Given the description of an element on the screen output the (x, y) to click on. 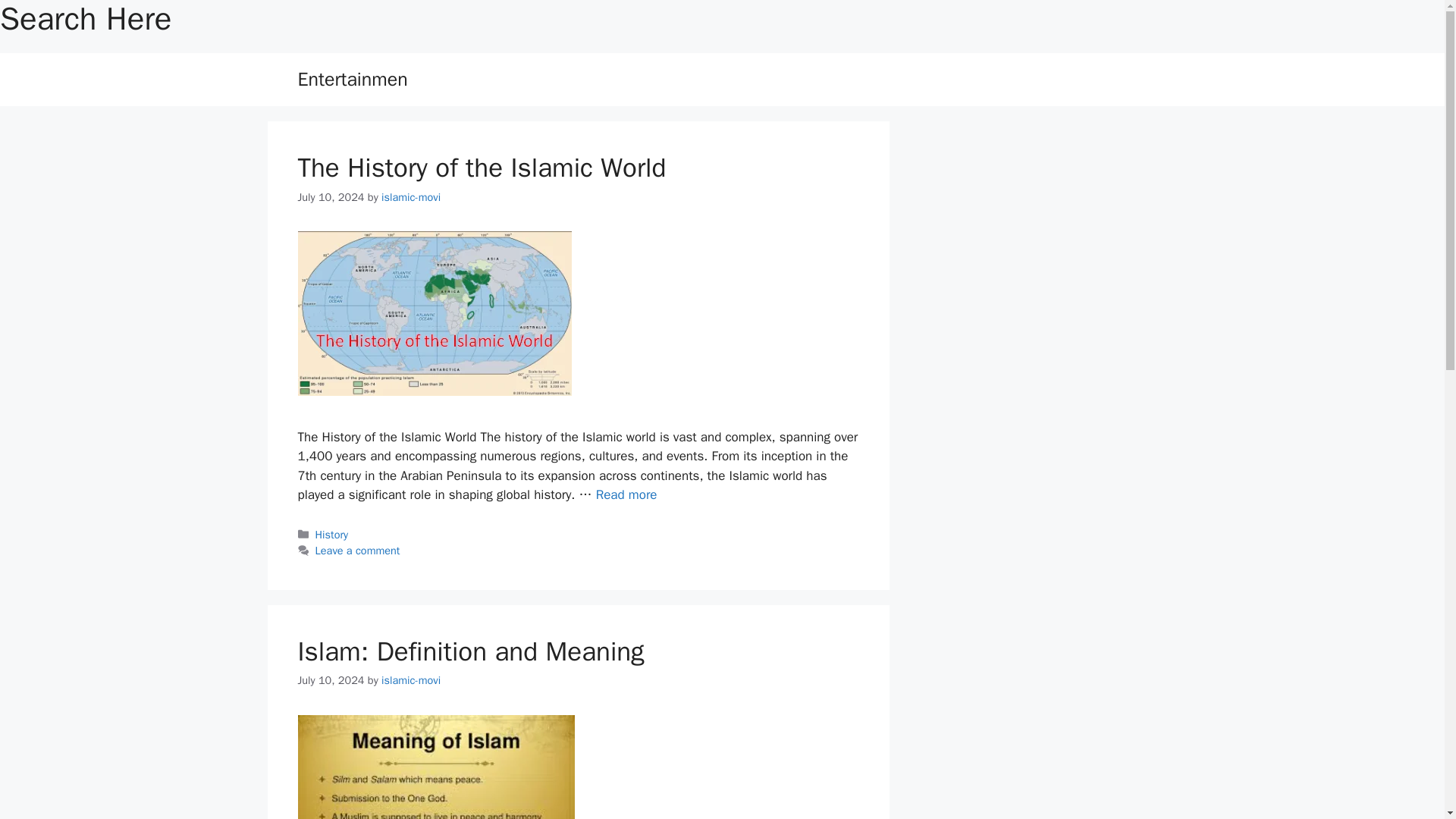
The History of the Islamic World (481, 167)
Read more (626, 494)
islamic-movi (411, 680)
View all posts by islamic-movi (411, 680)
The History of the Islamic World (626, 494)
islamic-movi (411, 196)
View all posts by islamic-movi (411, 196)
Leave a comment (357, 550)
History (332, 534)
Entertainmen (352, 78)
Islam: Definition and Meaning (470, 651)
